Given the description of an element on the screen output the (x, y) to click on. 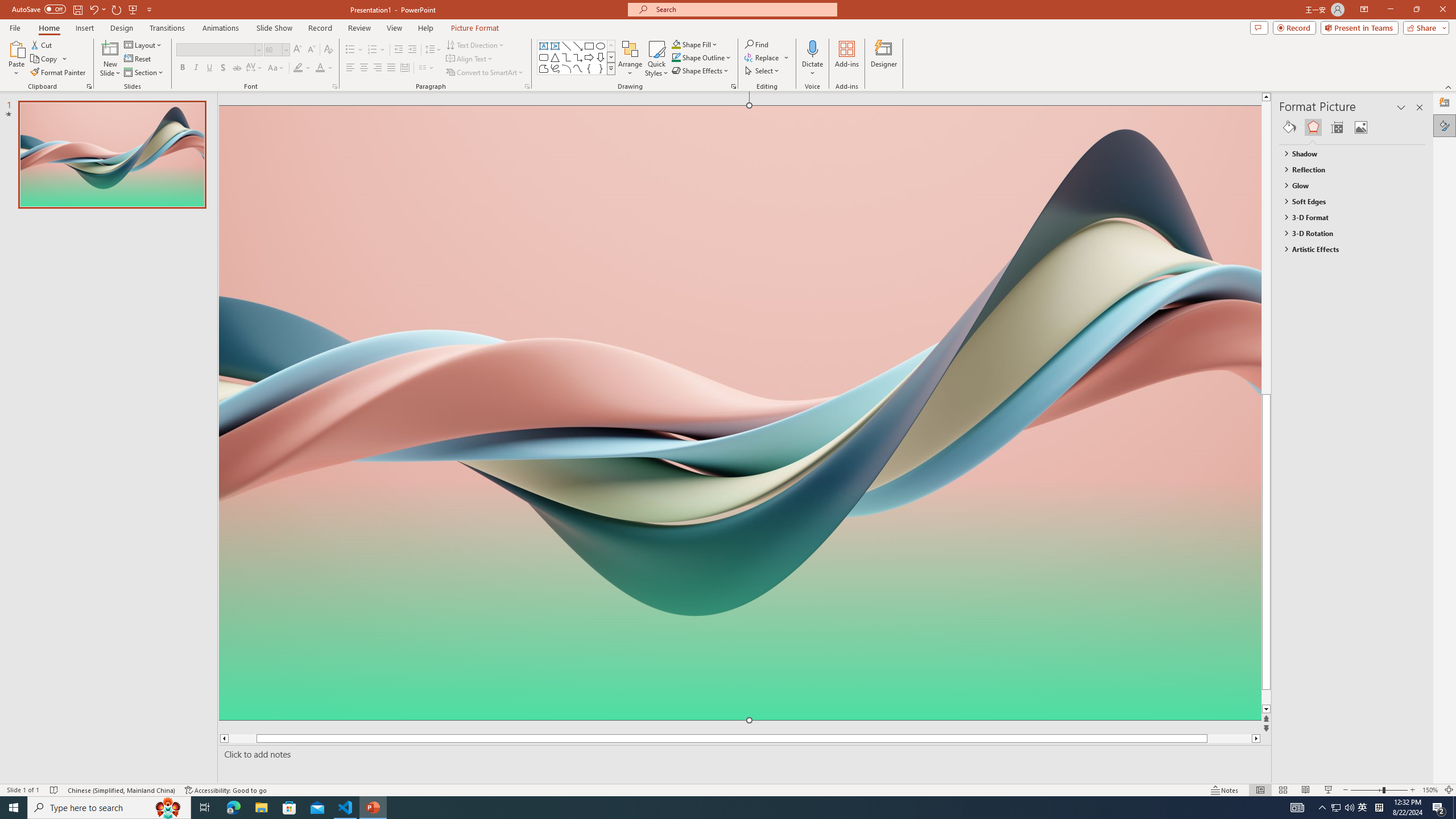
Rectangle (589, 45)
Freeform: Scribble (554, 68)
Right Brace (600, 68)
Collapse the Ribbon (1448, 86)
Undo (92, 9)
Wavy 3D art (739, 412)
Class: NetUIImage (610, 68)
Shapes (611, 68)
Dictate (812, 58)
Isosceles Triangle (554, 57)
Paste (16, 48)
Line Arrow (577, 45)
Row up (611, 45)
Shadow (223, 67)
AutoSave (38, 9)
